Given the description of an element on the screen output the (x, y) to click on. 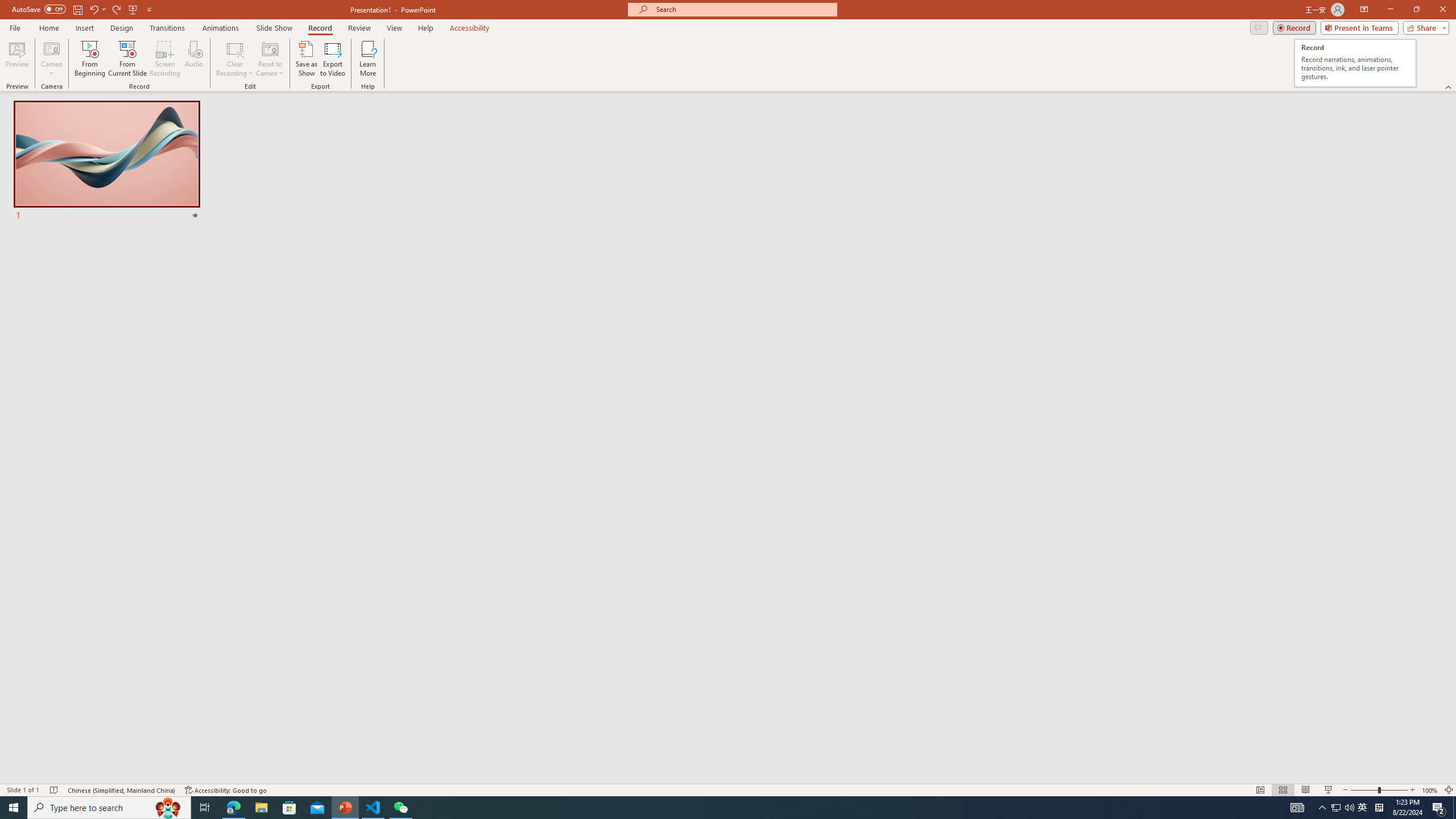
From Current Slide... (127, 58)
Clear Recording (234, 58)
